Given the description of an element on the screen output the (x, y) to click on. 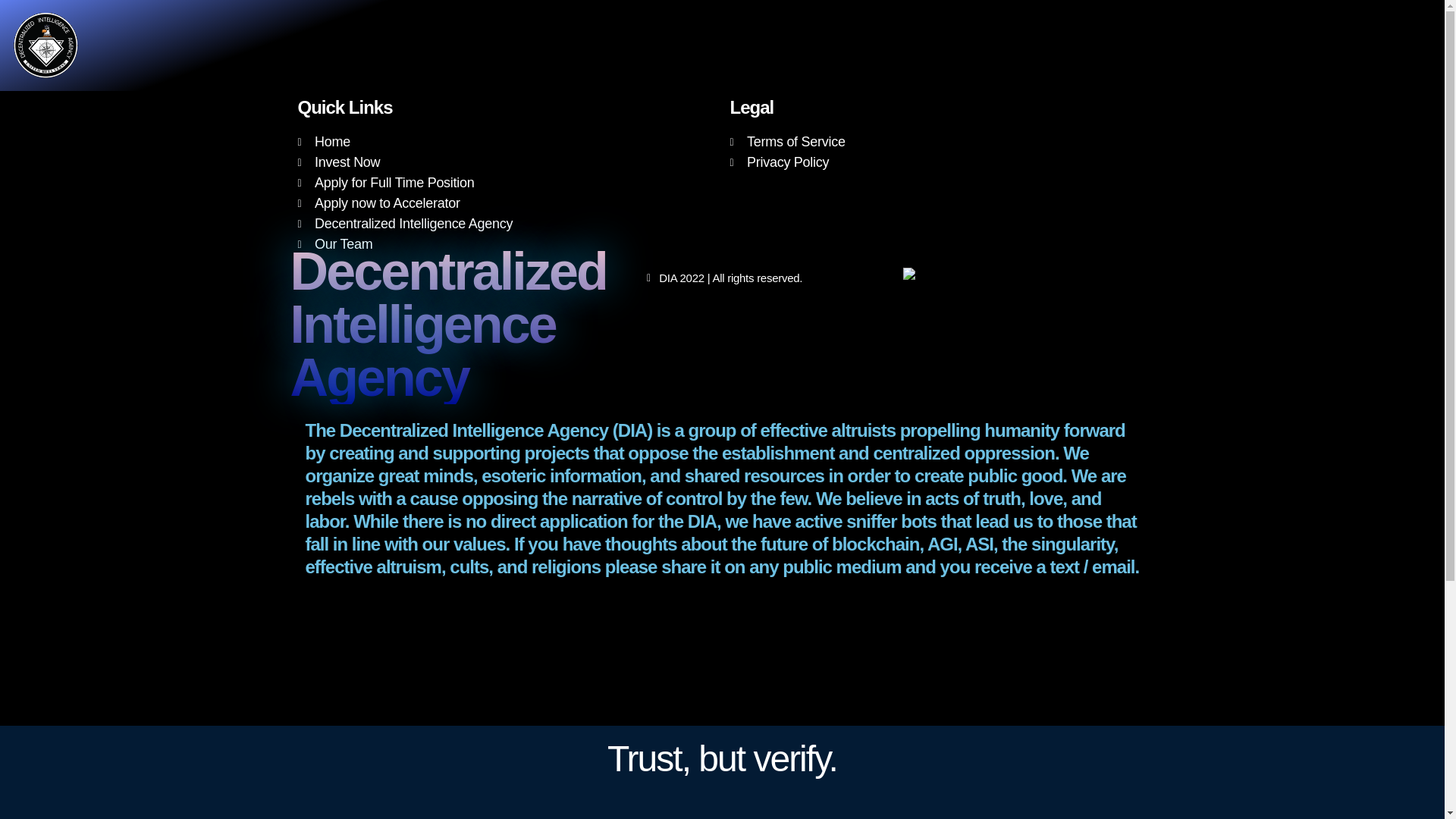
DIA Agent (938, 275)
Terms of Service (938, 141)
Home (505, 141)
